Given the description of an element on the screen output the (x, y) to click on. 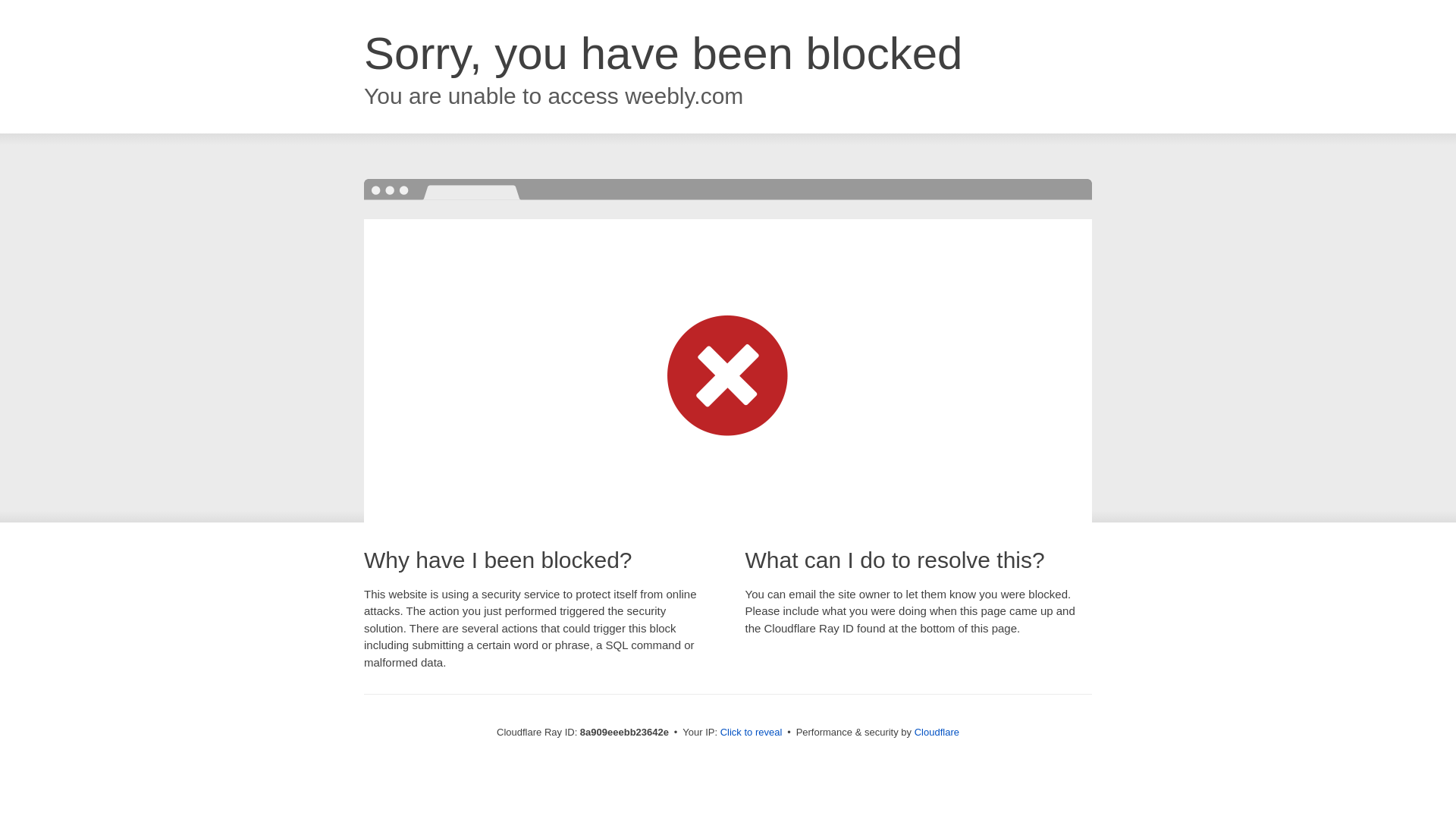
Click to reveal (751, 732)
Cloudflare (936, 731)
